Given the description of an element on the screen output the (x, y) to click on. 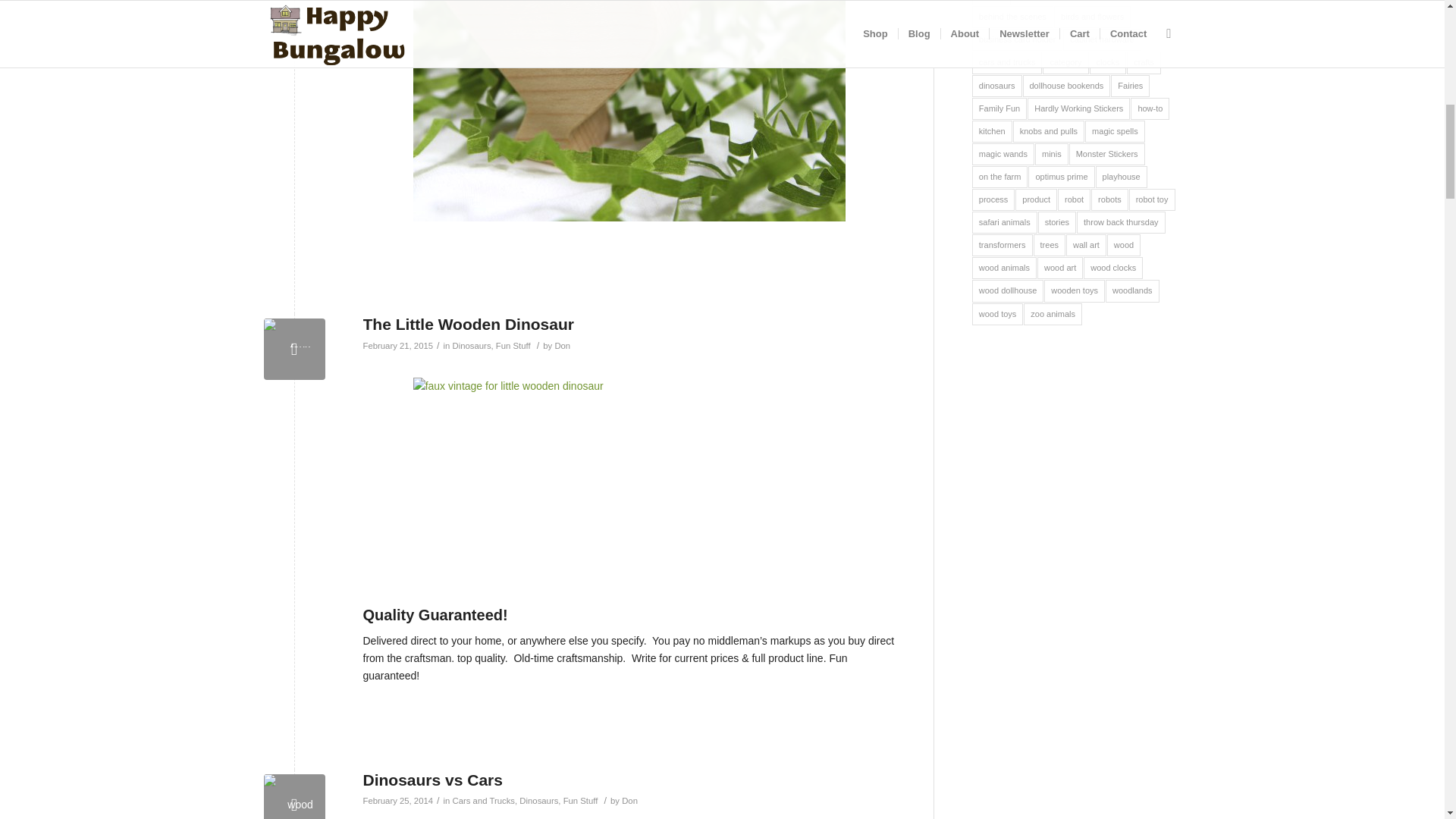
Permanent Link: The Little Wooden Dinosaur (467, 323)
Happy-Bungalow-wooden-toy-dinosaurs-vs-cars-alt001t-570 (293, 796)
Posts by Don (562, 345)
wooden dinosaur toy (628, 476)
Posts by Don (629, 800)
Permanent Link: Dinosaurs vs Cars (432, 779)
15015 Little Wooden Dinosaur vintage ad HAPPY BUNGALOW-570 (293, 349)
